Given the description of an element on the screen output the (x, y) to click on. 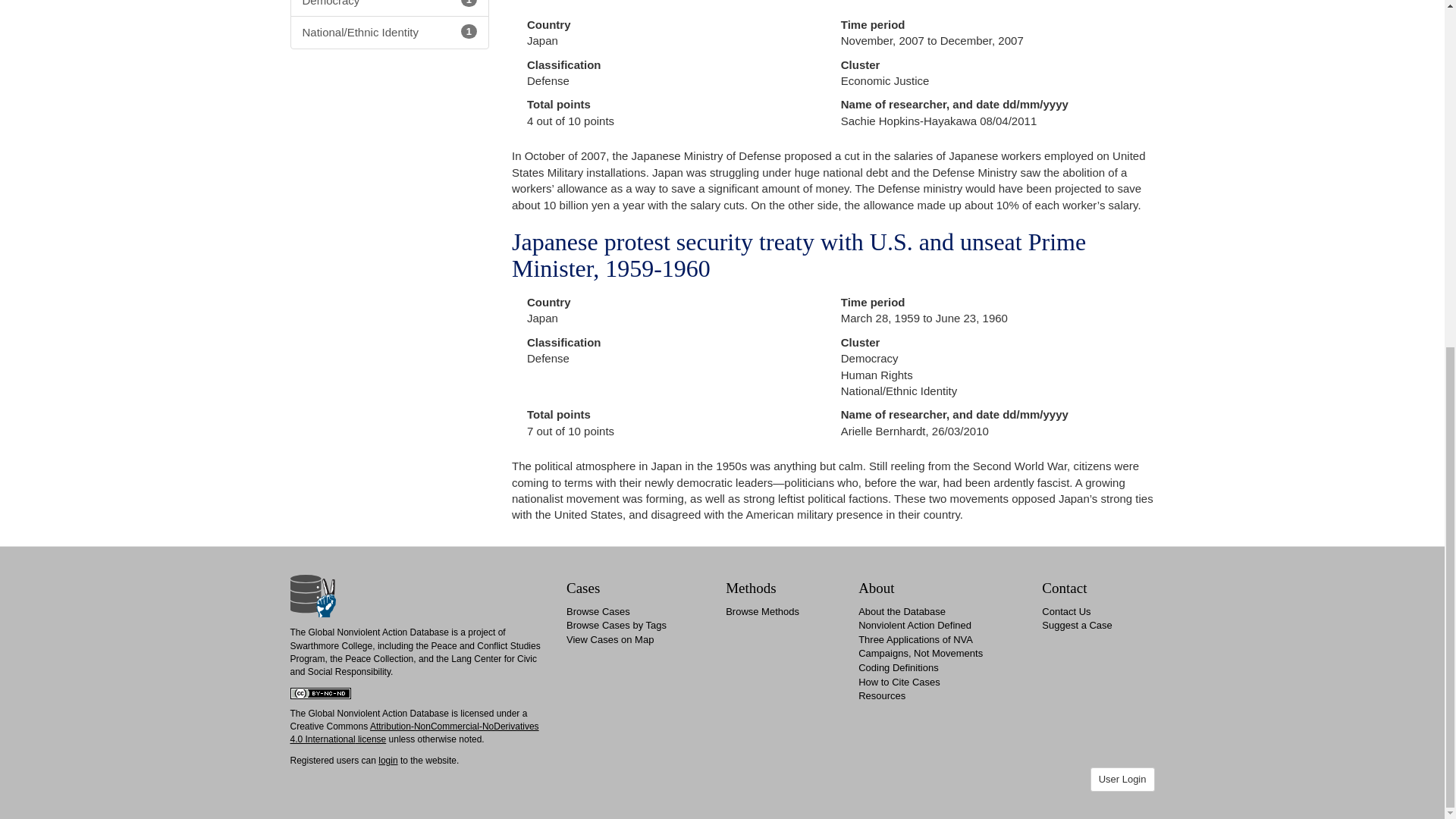
Home (311, 594)
Attribution-NonCommercial-NoDerivatives 4.0 International (413, 732)
 license (371, 738)
